Given the description of an element on the screen output the (x, y) to click on. 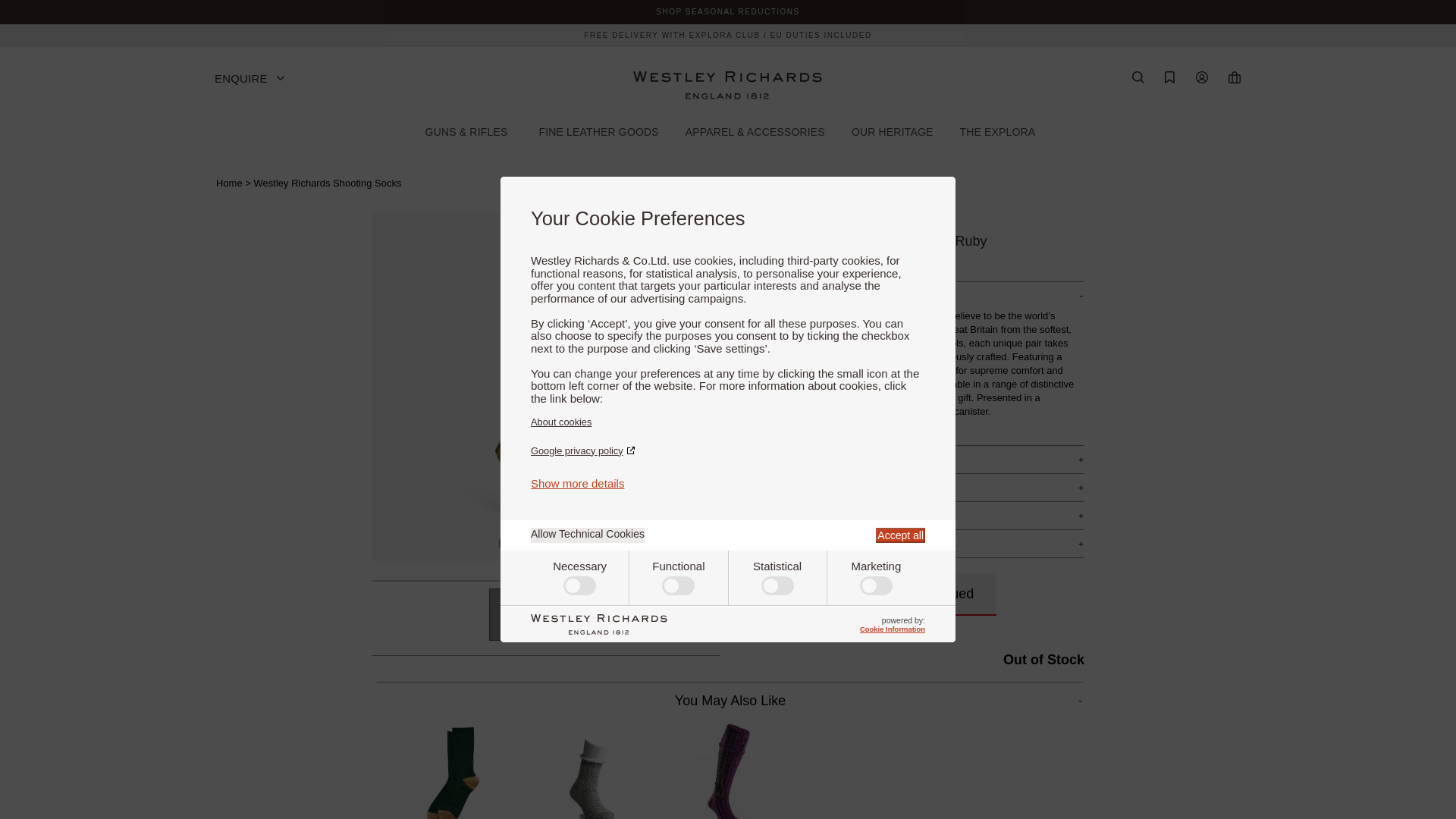
Google privacy policy (727, 450)
Show more details (577, 482)
About cookies (727, 421)
